Given the description of an element on the screen output the (x, y) to click on. 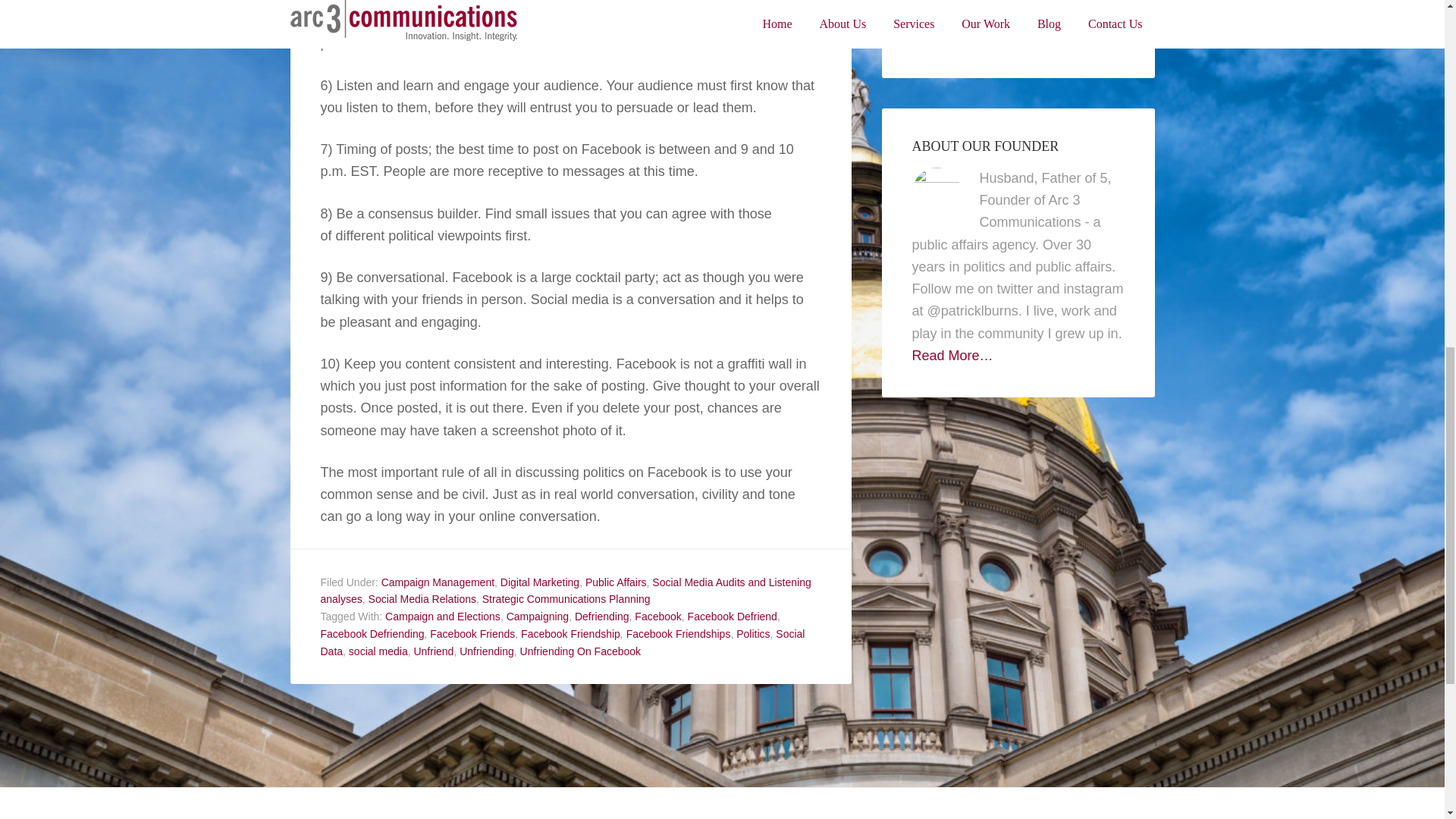
Facebook Defriending (371, 633)
Social Media Audits and Listening analyses (565, 591)
Campaigning (537, 616)
Politics (753, 633)
Social Media Relations (422, 598)
Defriending (601, 616)
Facebook Friendships (678, 633)
Public Affairs (615, 582)
Facebook Friendship (570, 633)
Facebook Defriend (732, 616)
Campaign Management (438, 582)
Campaign and Elections (442, 616)
Digital Marketing (539, 582)
Facebook Friends (472, 633)
Facebook (657, 616)
